Given the description of an element on the screen output the (x, y) to click on. 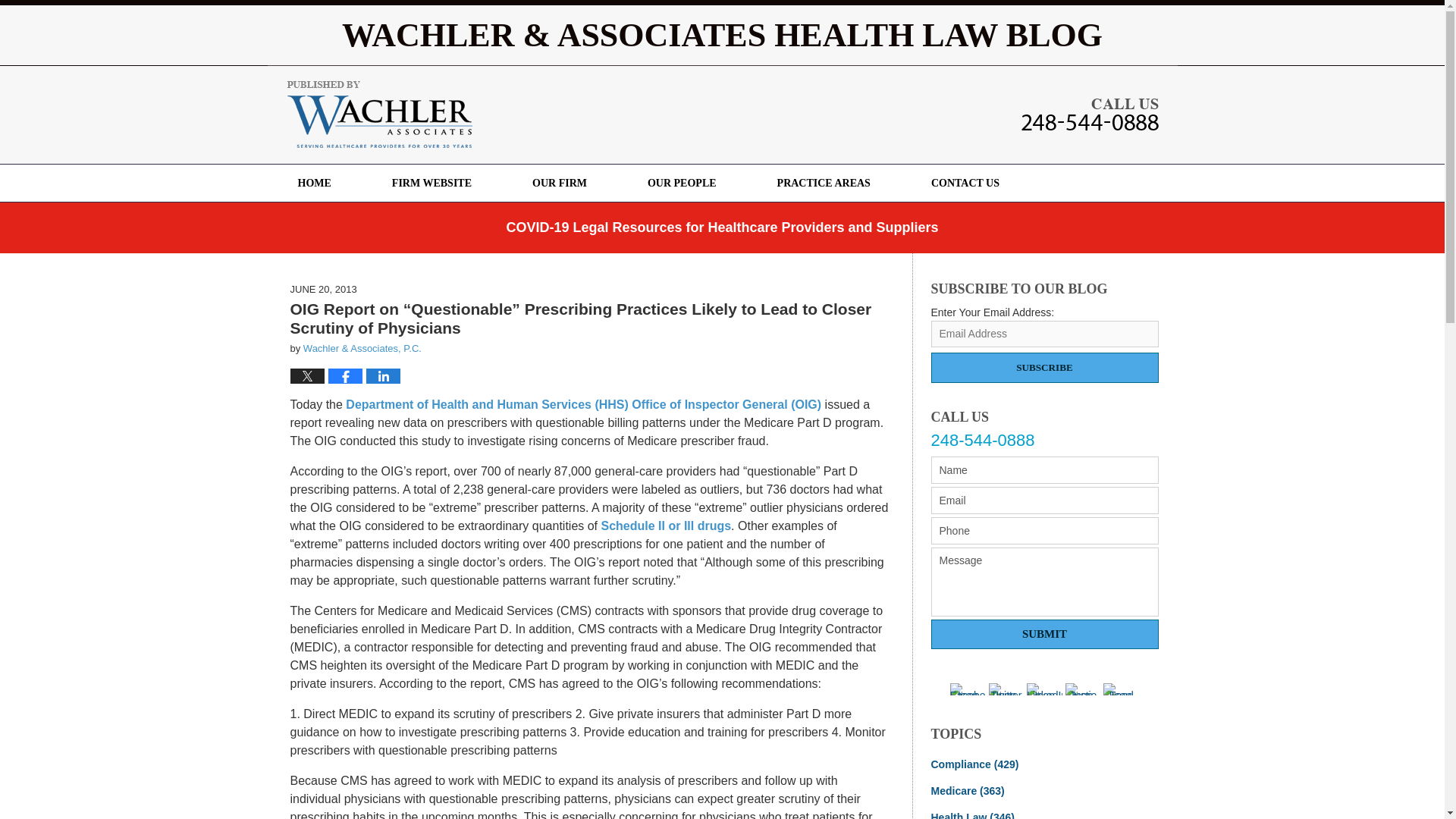
OUR PEOPLE (681, 182)
Justia (1083, 689)
Please enter a valid phone number. (1044, 530)
CONTACT US (965, 182)
HOME (313, 182)
Twitter (1006, 689)
PRACTICE AREAS (823, 182)
LinkedIn (1044, 689)
SUBSCRIBE (1044, 367)
